Given the description of an element on the screen output the (x, y) to click on. 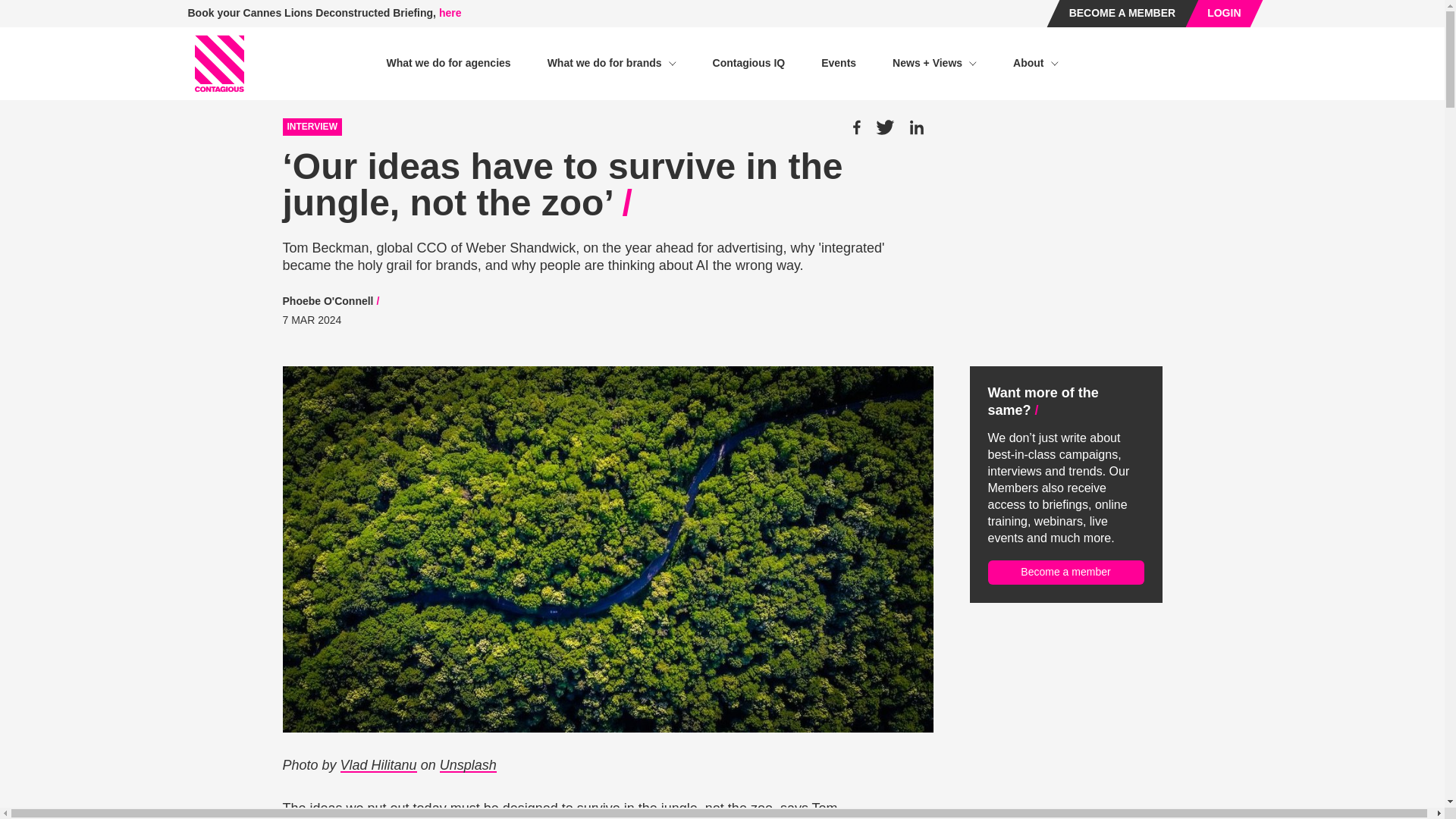
Events (838, 63)
What we do for agencies (448, 63)
LOGIN (1223, 13)
Become a member (1064, 572)
Contagious IQ (749, 63)
SHARE ON LINKEDIN (915, 127)
SHARE ON TWITTER (885, 127)
BECOME A MEMBER (1122, 13)
Unsplash (467, 765)
Vlad Hilitanu (378, 765)
